Given the description of an element on the screen output the (x, y) to click on. 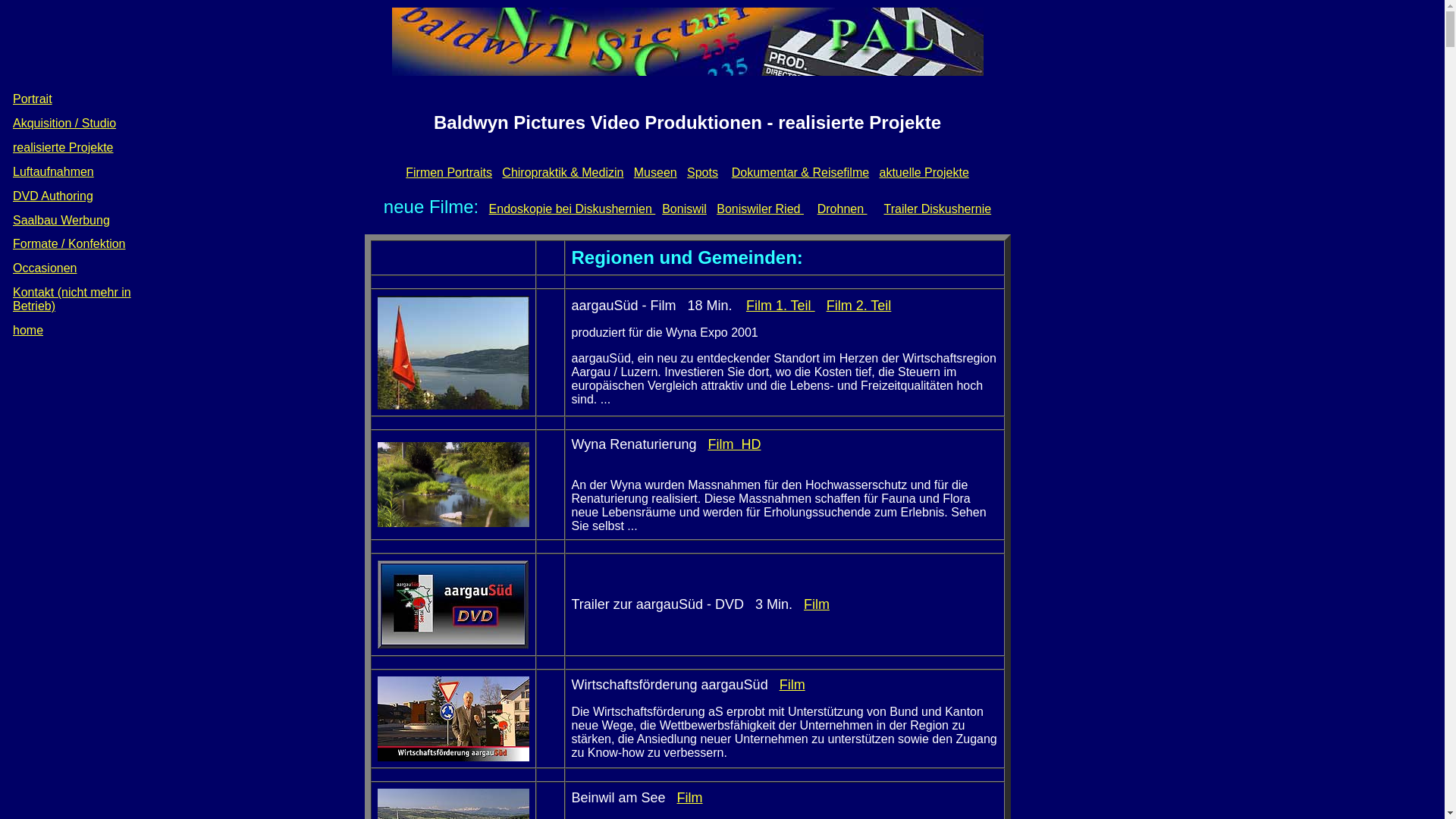
home Element type: text (27, 329)
Akquisition / Studio Element type: text (64, 122)
Occasionen Element type: text (44, 267)
DVD Authoring Element type: text (52, 195)
Spots Element type: text (702, 172)
Chiropraktik & Medizin Element type: text (562, 172)
Museen Element type: text (655, 172)
Endoskopie bei Diskushernien  Element type: text (572, 208)
Boniswil Element type: text (684, 208)
Film Element type: text (816, 603)
Film 1. Teil  Element type: text (780, 305)
Film Element type: text (689, 797)
Film 2. Teil Element type: text (858, 305)
Saalbau Werbung Element type: text (60, 219)
realisierte Projekte Element type: text (62, 147)
Luftaufnahmen Element type: text (53, 171)
Trailer Diskushernie Element type: text (937, 208)
Firmen Portraits Element type: text (448, 172)
Formate / Konfektion Element type: text (68, 243)
Kontakt (nicht mehr in Betrieb) Element type: text (71, 298)
aktuelle Projekte Element type: text (923, 172)
Boniswiler Ried  Element type: text (759, 208)
Dokumentar & Reisefilme Element type: text (800, 172)
Film Element type: text (792, 684)
Film  HD Element type: text (733, 443)
Drohnen  Element type: text (842, 208)
Portrait Element type: text (32, 98)
